Given the description of an element on the screen output the (x, y) to click on. 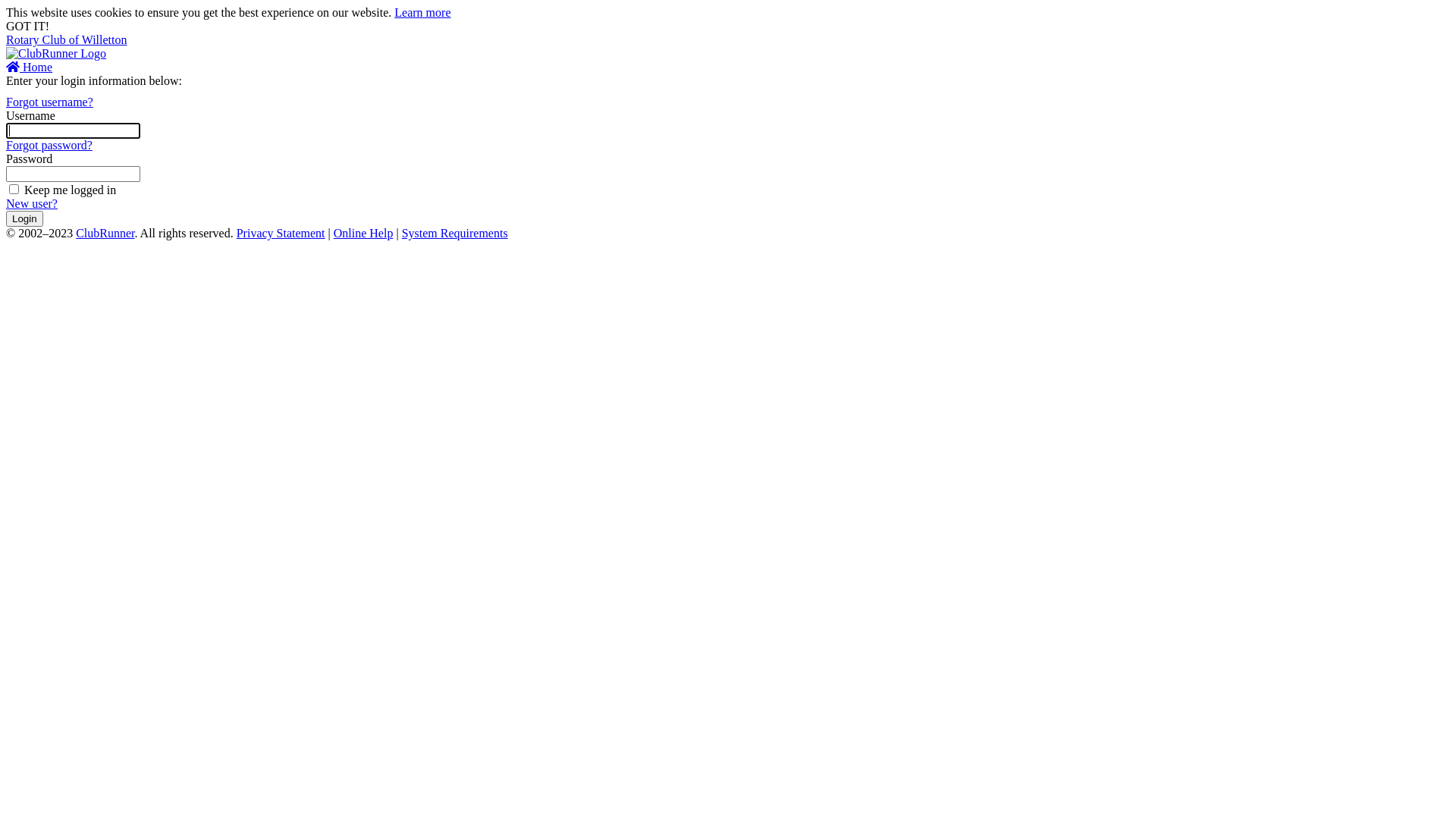
Rotary Club of Willetton Element type: text (66, 39)
Home Element type: text (29, 66)
Privacy Statement Element type: text (280, 232)
Login Element type: text (24, 218)
Learn more Element type: text (422, 12)
Forgot password? Element type: text (49, 144)
GOT IT! Element type: text (27, 25)
Online Help Element type: text (363, 232)
System Requirements Element type: text (454, 232)
Forgot username? Element type: text (49, 101)
New user? Element type: text (31, 203)
ClubRunner Element type: text (104, 232)
